Given the description of an element on the screen output the (x, y) to click on. 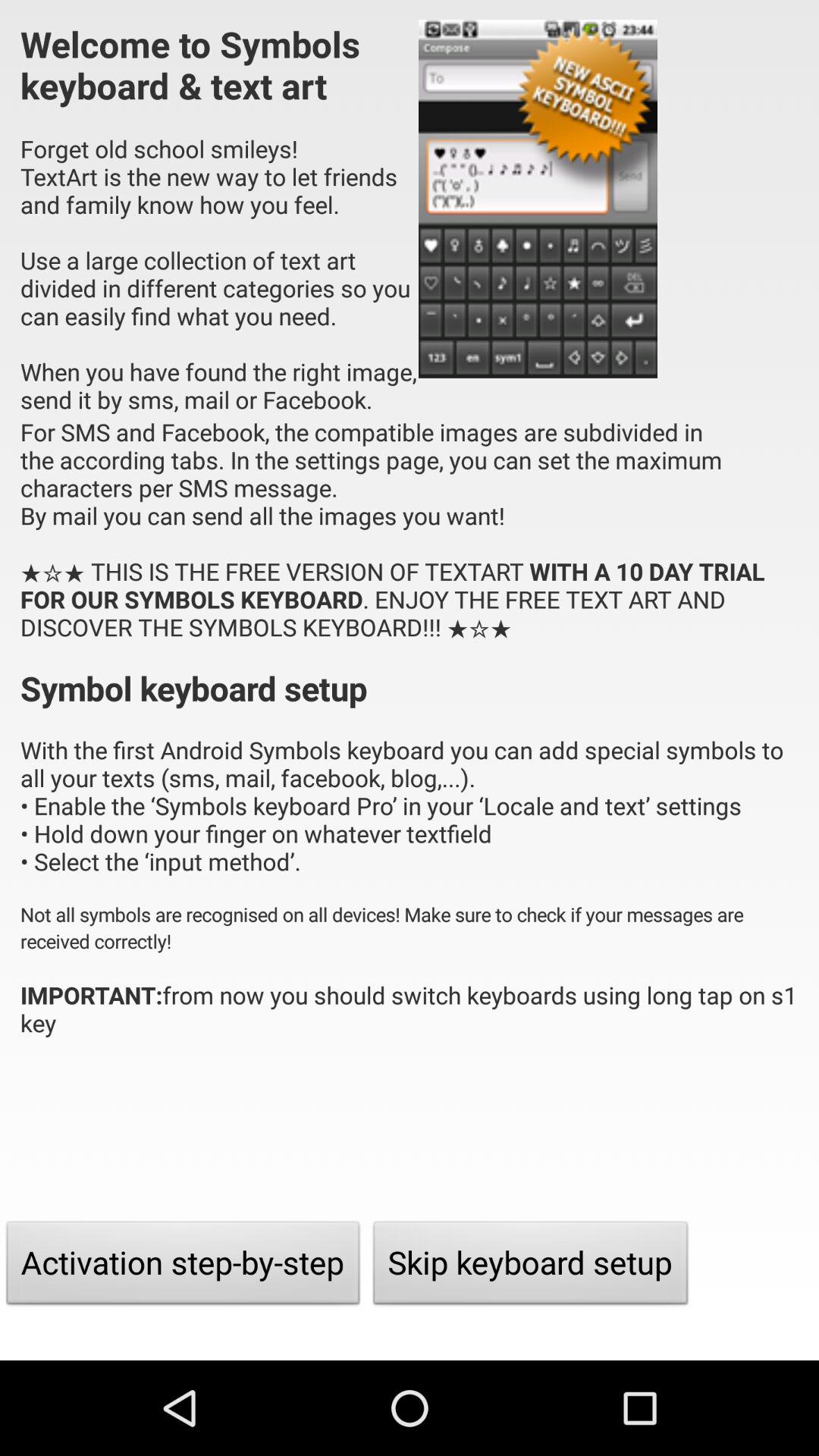
turn off the activation step by item (183, 1266)
